Given the description of an element on the screen output the (x, y) to click on. 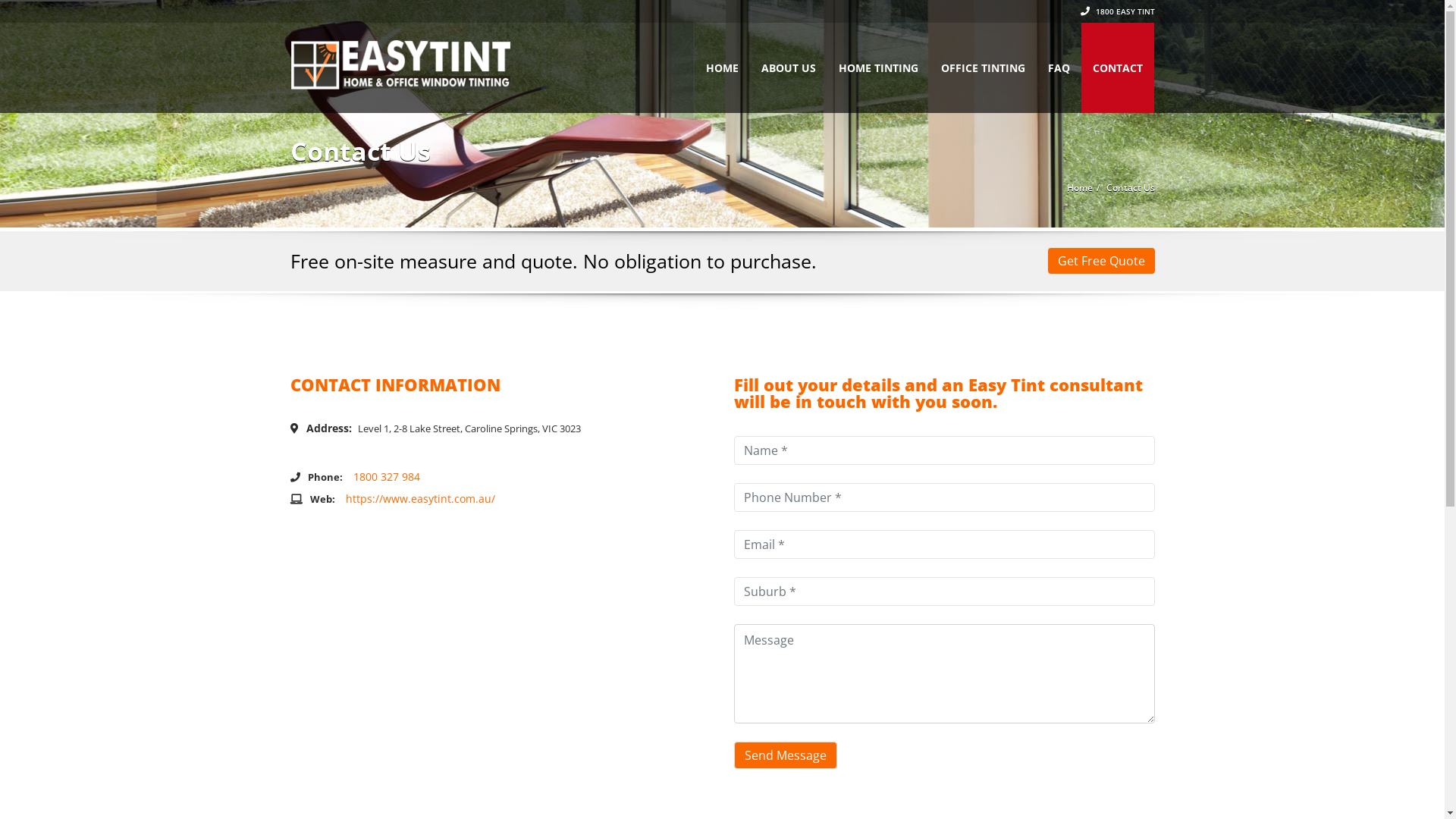
Send Message Element type: text (785, 754)
CONTACT Element type: text (1117, 67)
FAQ Element type: text (1057, 67)
HOME TINTING Element type: text (877, 67)
Get Free Quote Element type: text (1101, 260)
OFFICE TINTING Element type: text (982, 67)
1800 EASY TINT Element type: text (1116, 11)
Home Element type: text (1079, 187)
HOME Element type: text (721, 67)
1800 327 984 Element type: text (386, 476)
https://www.easytint.com.au/ Element type: text (420, 498)
Contact Us Element type: text (1129, 187)
ABOUT US Element type: text (787, 67)
